Given the description of an element on the screen output the (x, y) to click on. 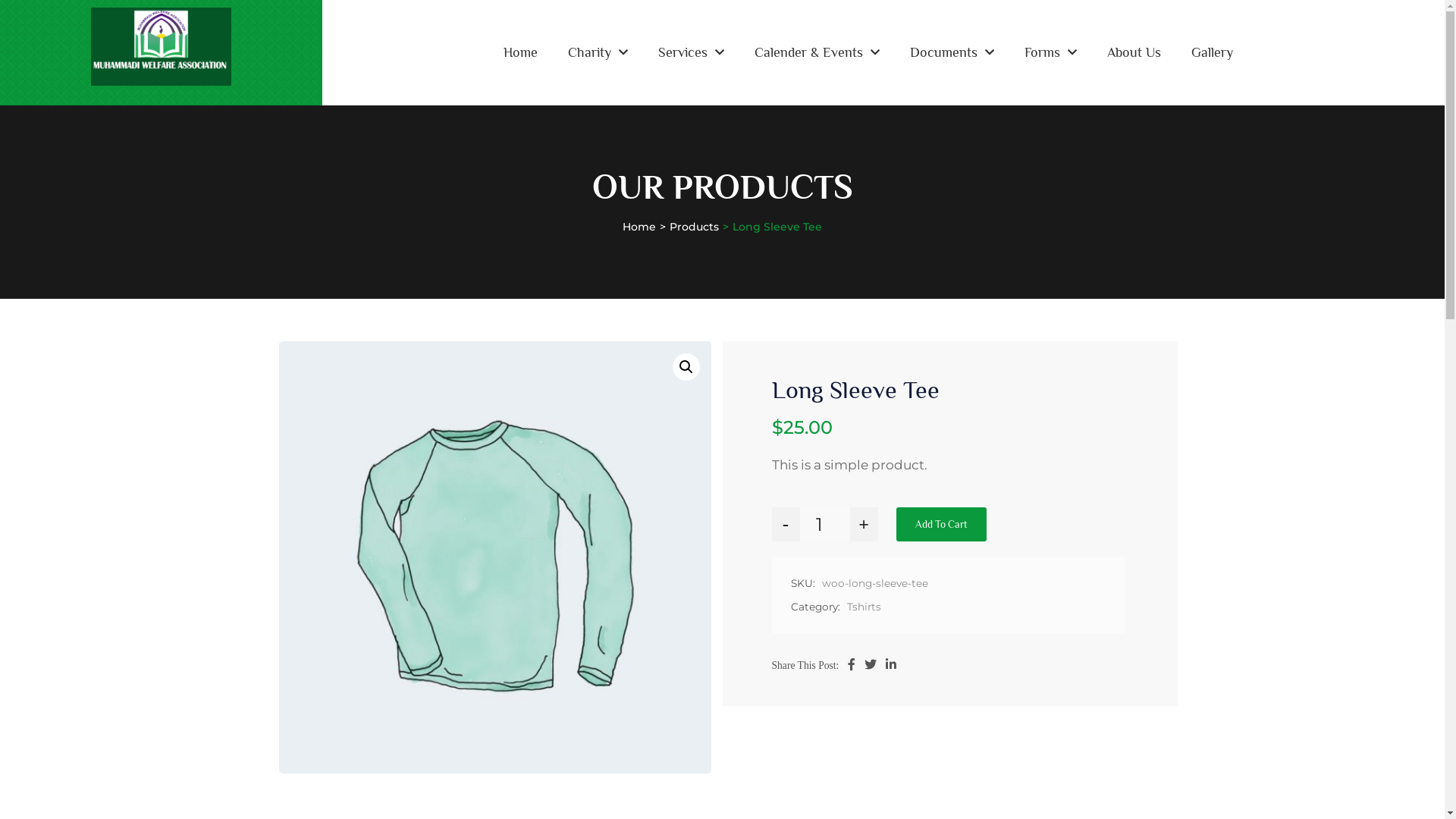
Home Element type: text (520, 52)
Services Element type: text (691, 52)
Facebook Element type: hover (851, 664)
Twitter Element type: hover (870, 664)
Tshirts Element type: text (862, 606)
Charity Element type: text (597, 52)
+ Element type: text (863, 524)
Home Element type: text (638, 226)
Forms Element type: text (1050, 52)
- Element type: text (785, 524)
About Us Element type: text (1134, 52)
Products Element type: text (693, 226)
Gallery Element type: text (1212, 52)
Documents Element type: text (952, 52)
Add To Cart Element type: text (941, 524)
Qty Element type: hover (824, 524)
Calender & Events Element type: text (816, 52)
Linkedin Element type: hover (890, 664)
long-sleeve-tee-2.jpg Element type: hover (495, 557)
